Given the description of an element on the screen output the (x, y) to click on. 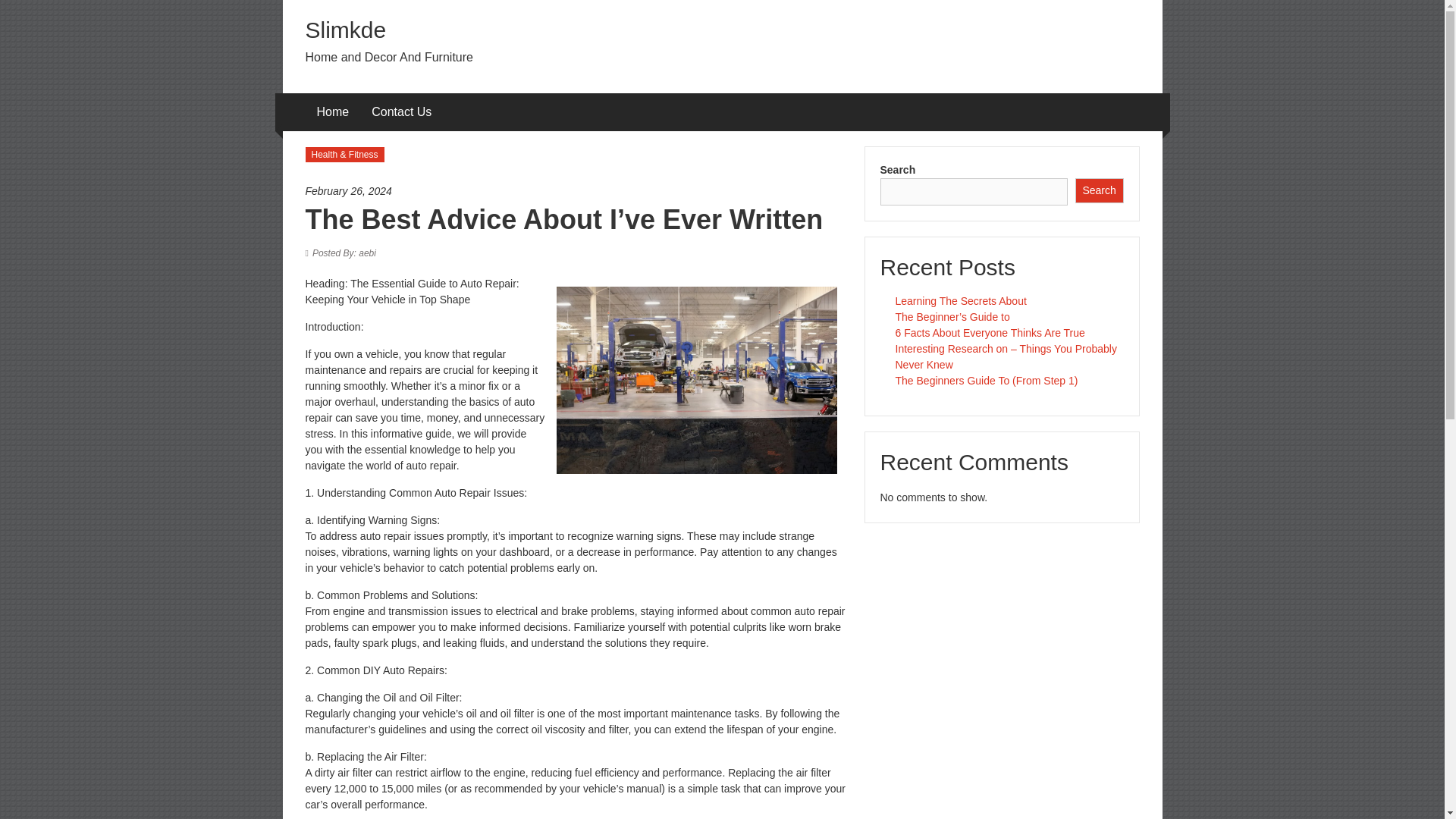
4:11 am (575, 191)
Slimkde (344, 29)
Contact Us (400, 112)
Slimkde (344, 29)
Learning The Secrets About (960, 300)
aebi (344, 253)
6 Facts About Everyone Thinks Are True (989, 332)
Search (1099, 190)
Posted By: aebi (344, 253)
February 26, 2024 (575, 191)
